Given the description of an element on the screen output the (x, y) to click on. 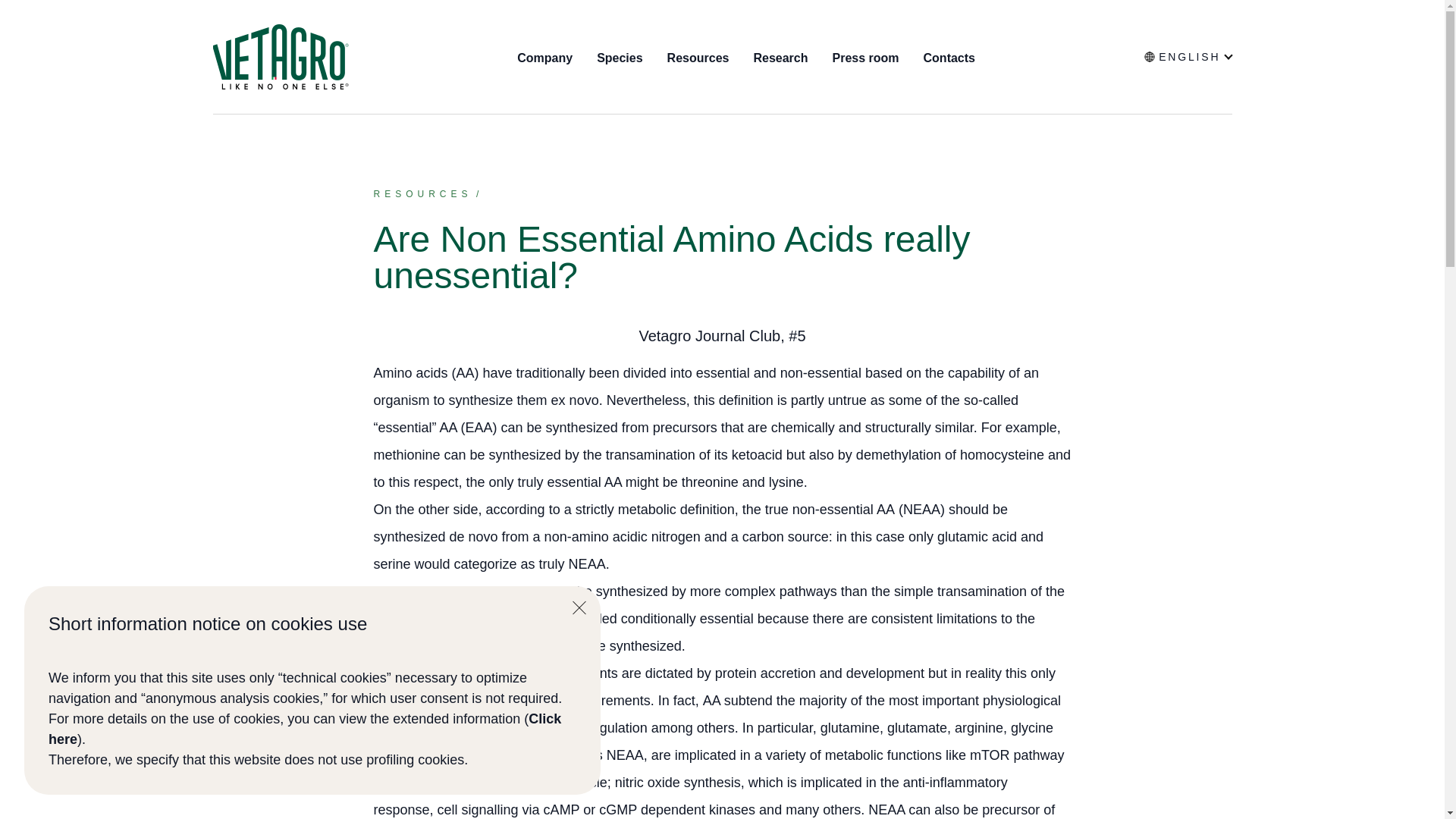
Research (780, 57)
Press room (864, 57)
Resources (697, 57)
Species (619, 57)
RESOURCES (421, 194)
Company (544, 57)
Contacts (949, 57)
